Given the description of an element on the screen output the (x, y) to click on. 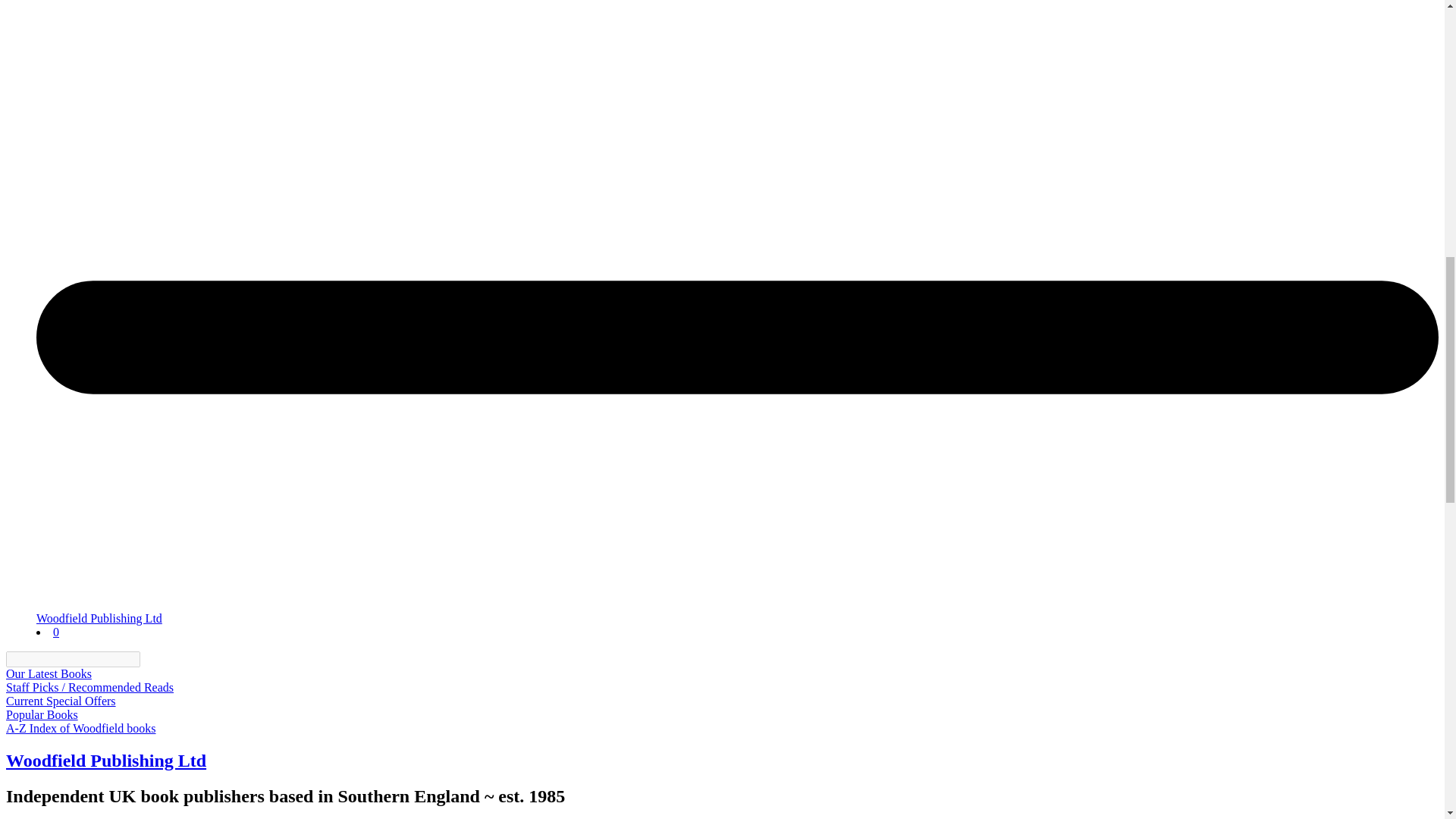
Find (148, 658)
Woodfield Publishing Ltd (98, 617)
